Given the description of an element on the screen output the (x, y) to click on. 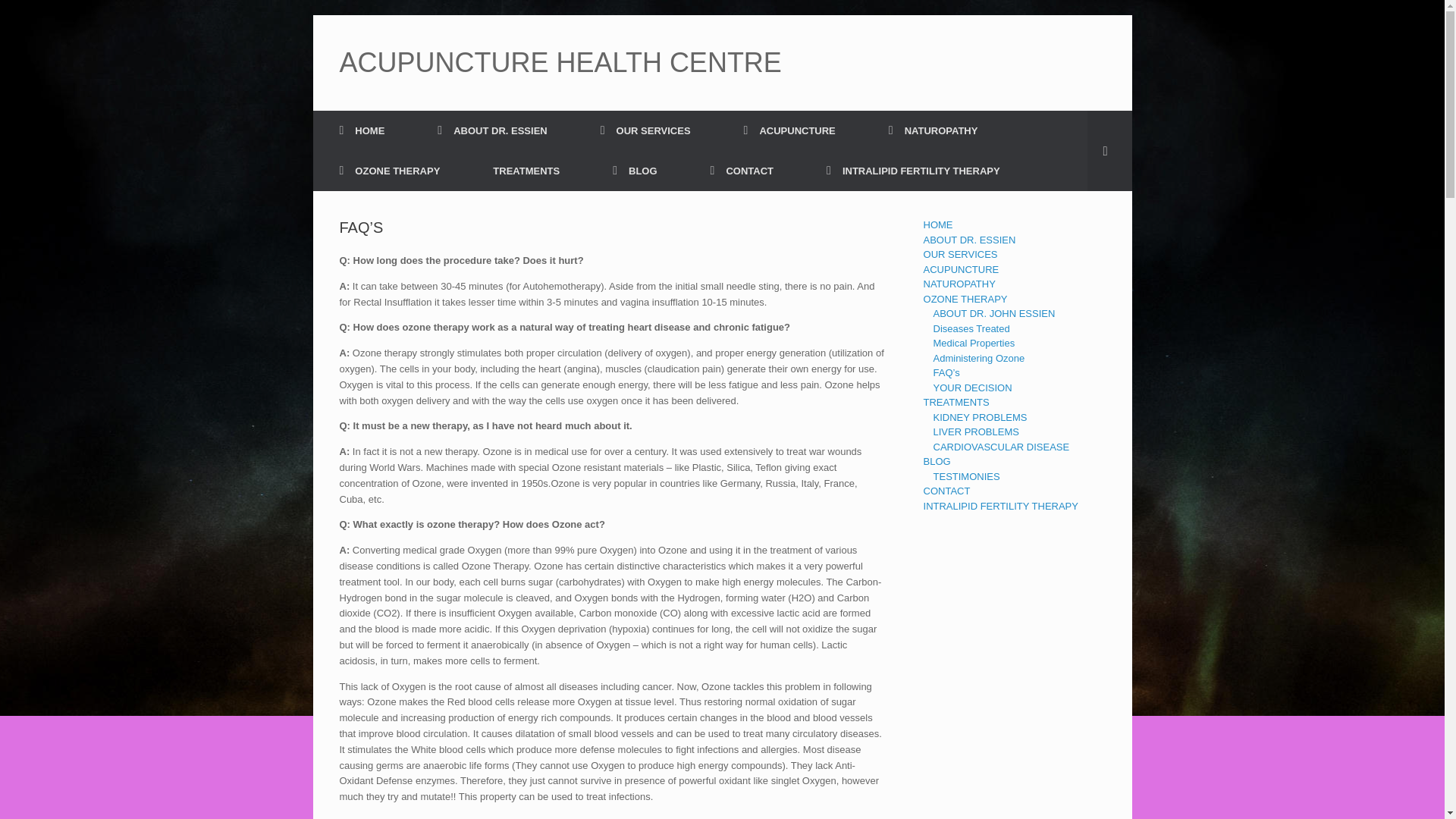
ACUPUNCTURE HEALTH CENTRE (560, 62)
ABOUT DR. ESSIEN (491, 130)
BLOG (634, 170)
OZONE THERAPY (965, 297)
LIVER PROBLEMS (976, 431)
INTRALIPID FERTILITY THERAPY (912, 170)
ABOUT DR. JOHN ESSIEN (994, 313)
CARDIOVASCULAR DISEASE (1001, 446)
OUR SERVICES (645, 130)
ACUPUNCTURE HEALTH CENTRE (560, 62)
HOME (938, 224)
CONTACT (741, 170)
Medical Properties (973, 342)
YOUR DECISION (972, 387)
TREATMENTS (525, 170)
